Given the description of an element on the screen output the (x, y) to click on. 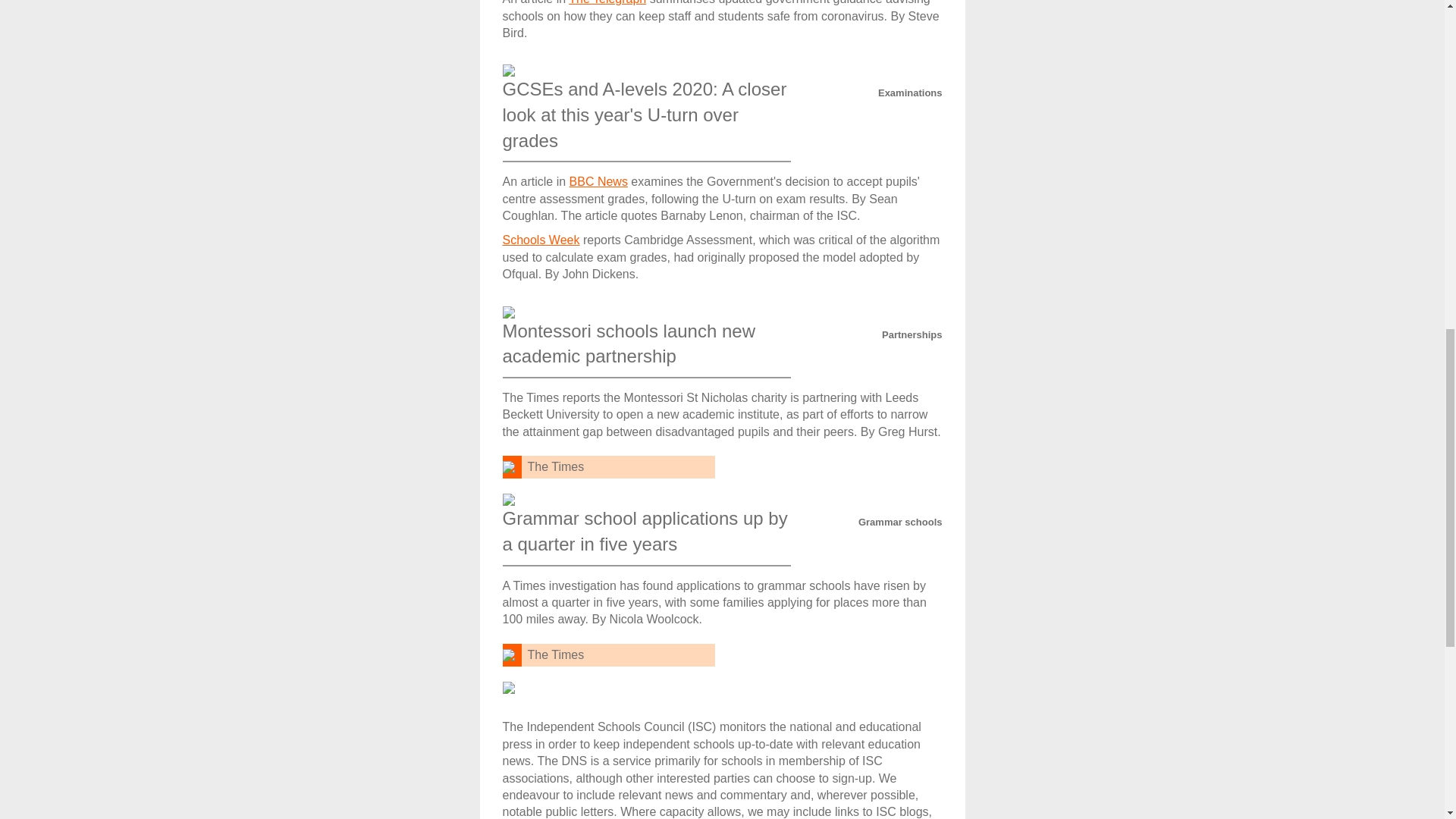
The Telegraph (607, 2)
The Times (556, 654)
BBC News (598, 181)
Schools Week (540, 239)
The Times (556, 466)
